Given the description of an element on the screen output the (x, y) to click on. 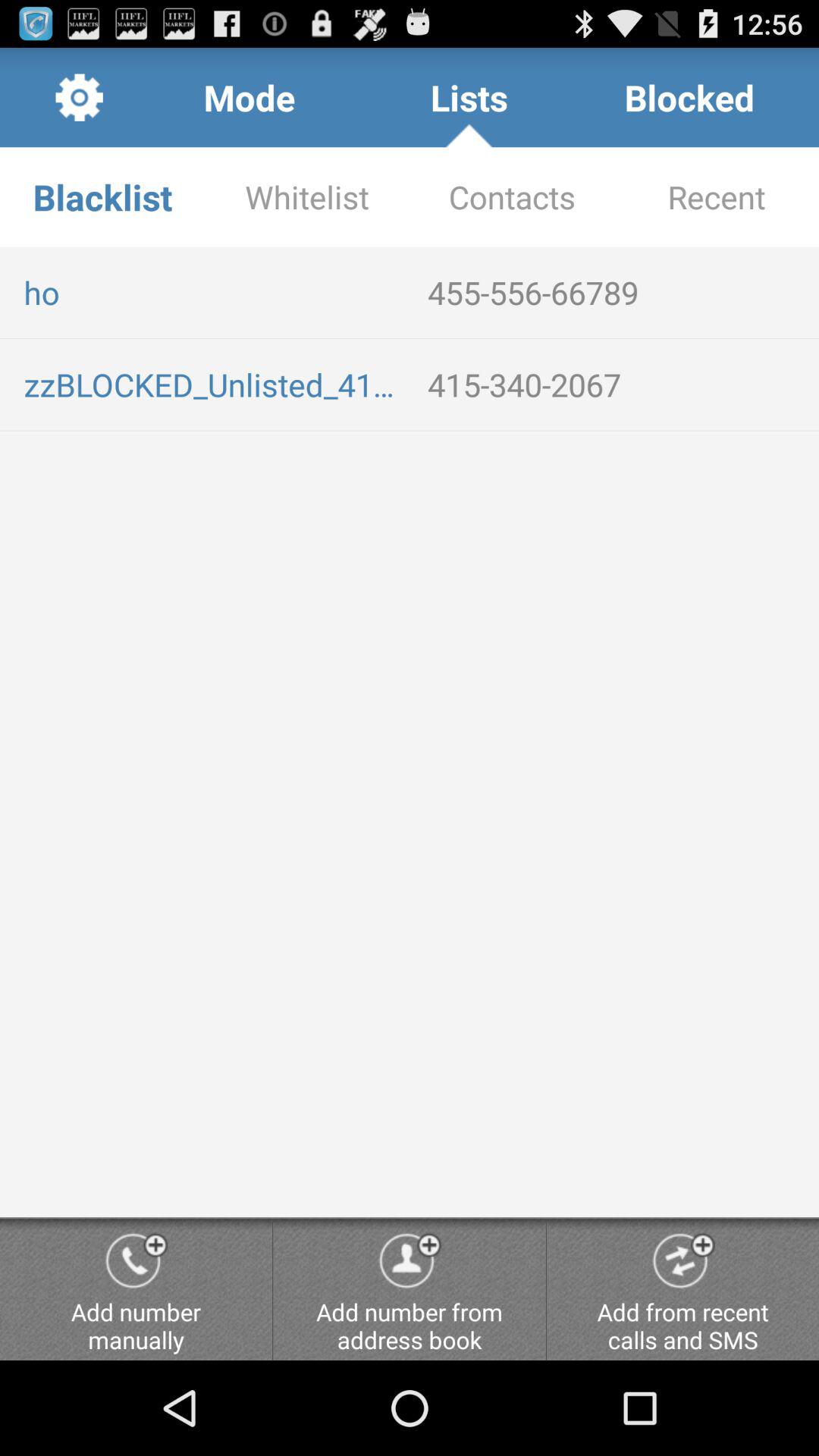
click the item to the left of whitelist item (102, 196)
